Given the description of an element on the screen output the (x, y) to click on. 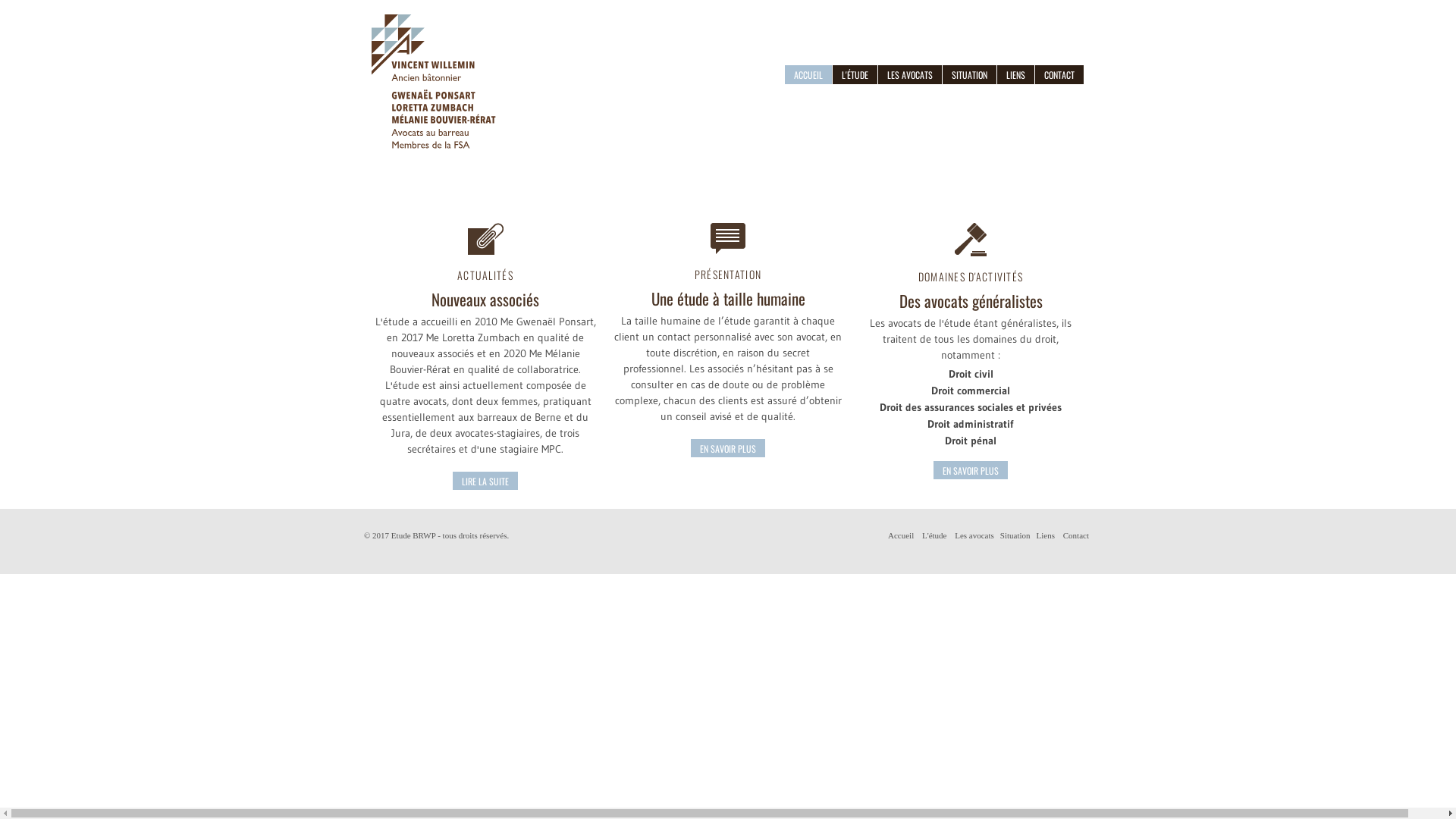
ACCUEIL Element type: text (807, 74)
Les avocats Element type: text (974, 534)
Situation Element type: text (1015, 534)
EN SAVOIR PLUS Element type: text (970, 470)
LIENS Element type: text (1015, 74)
LIRE LA SUITE Element type: text (484, 480)
CONTACT Element type: text (1059, 74)
Liens Element type: text (1045, 534)
Accueil Element type: text (900, 534)
LES AVOCATS Element type: text (909, 74)
SITUATION Element type: text (969, 74)
EN SAVOIR PLUS Element type: text (727, 448)
Contact Element type: text (1075, 534)
